Given the description of an element on the screen output the (x, y) to click on. 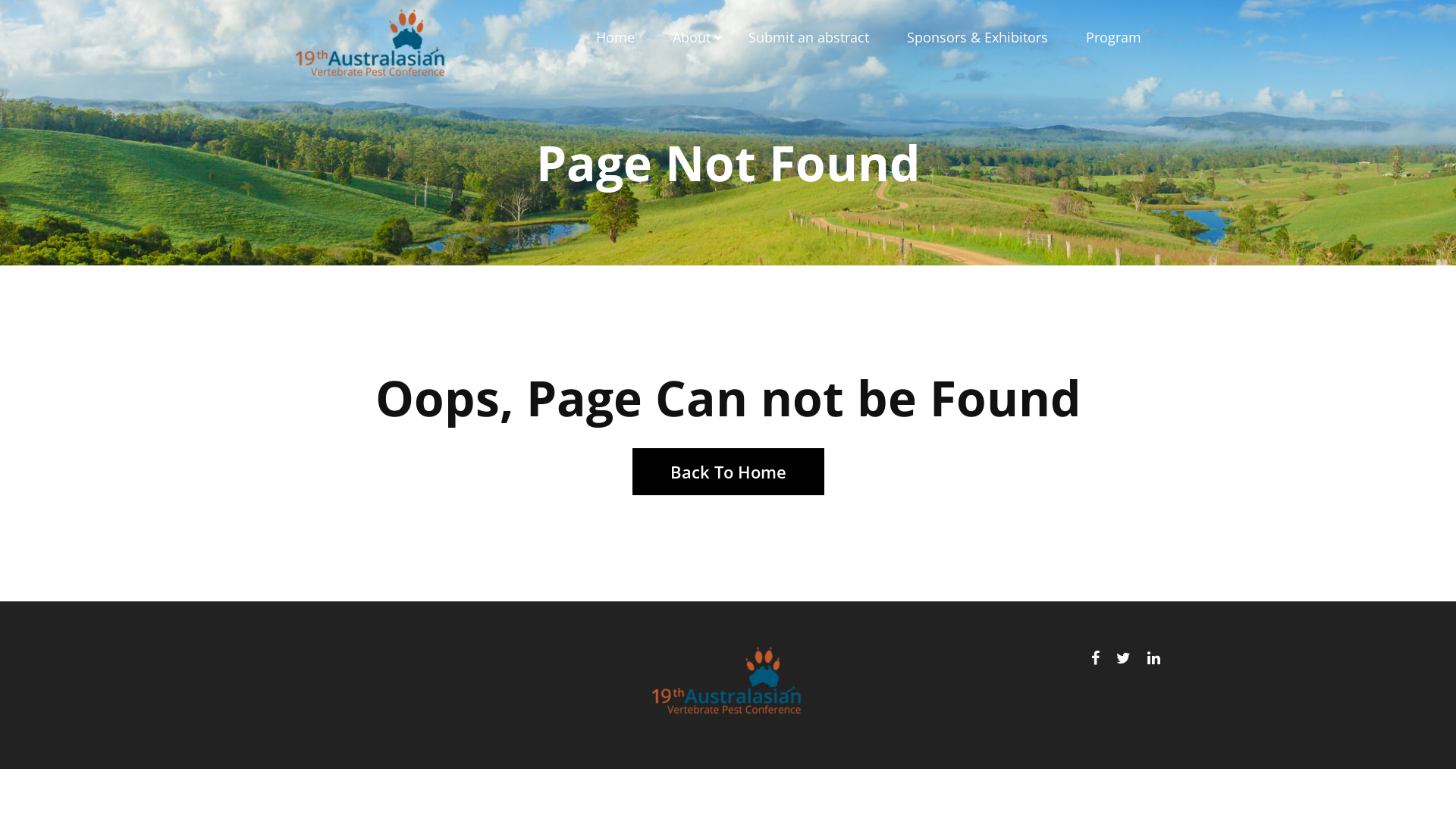
Back To Home Element type: text (728, 471)
Sponsors & Exhibitors Element type: text (977, 37)
Submit an abstract Element type: text (808, 37)
AVPC Element type: hover (727, 683)
Program Element type: text (1113, 37)
AVPC Element type: hover (371, 45)
Home Element type: text (615, 37)
About Element type: text (691, 37)
